Given the description of an element on the screen output the (x, y) to click on. 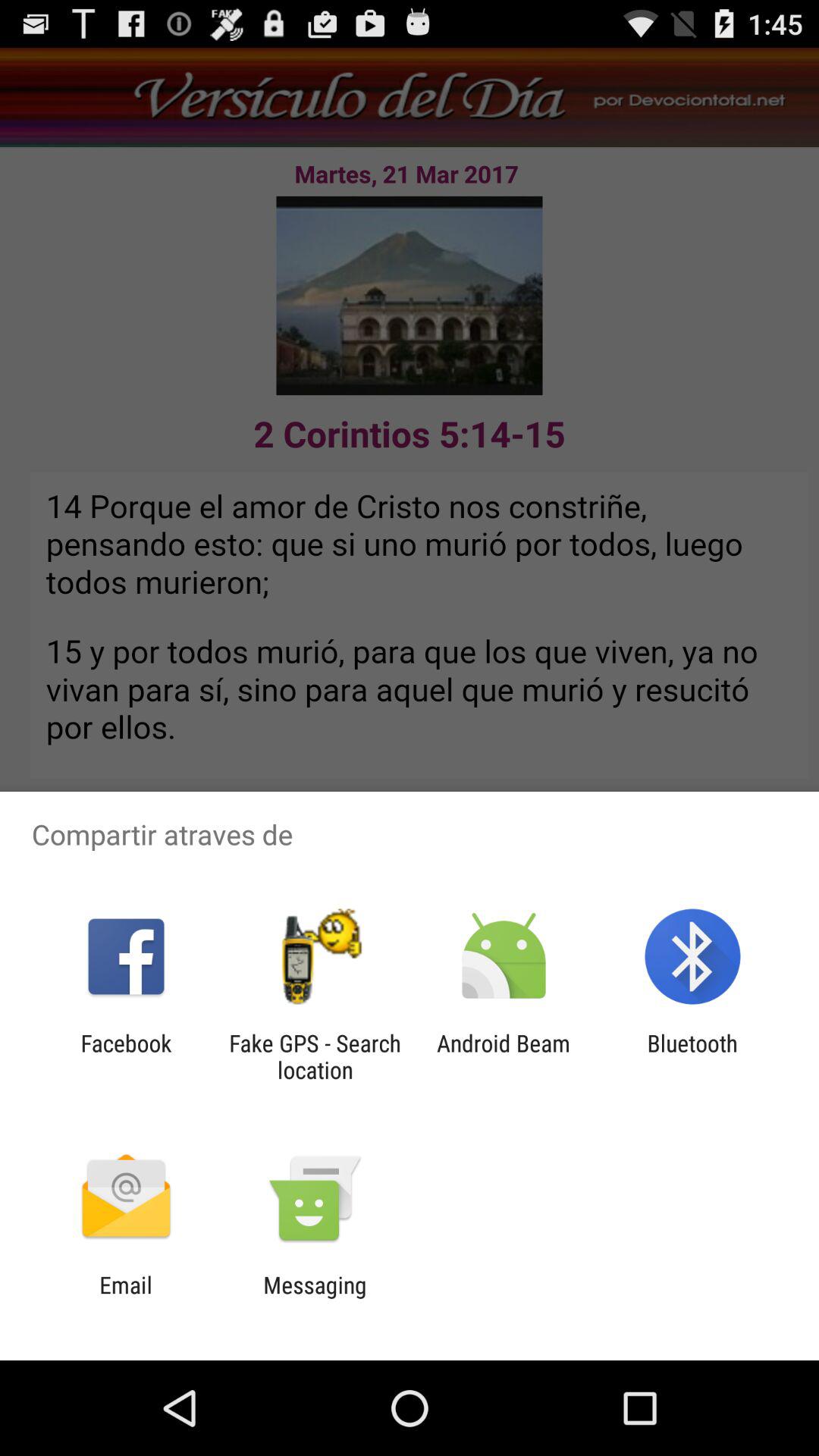
turn on icon next to the fake gps search item (503, 1056)
